Given the description of an element on the screen output the (x, y) to click on. 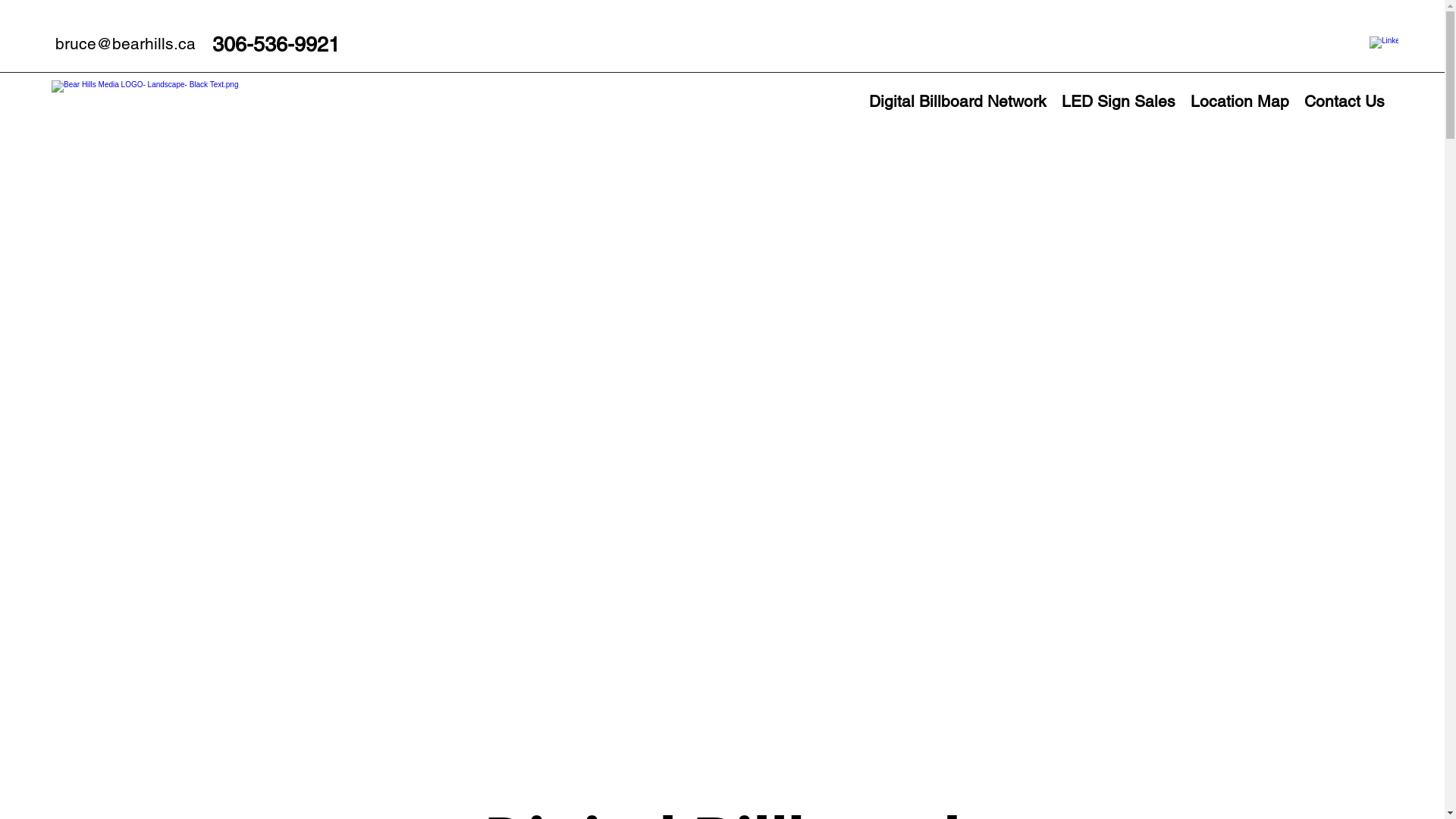
Location Map Element type: text (1239, 100)
bruce@bearhills.ca Element type: text (125, 43)
Digital Billboard Network Element type: text (957, 100)
Contact Us Element type: text (1344, 100)
